Given the description of an element on the screen output the (x, y) to click on. 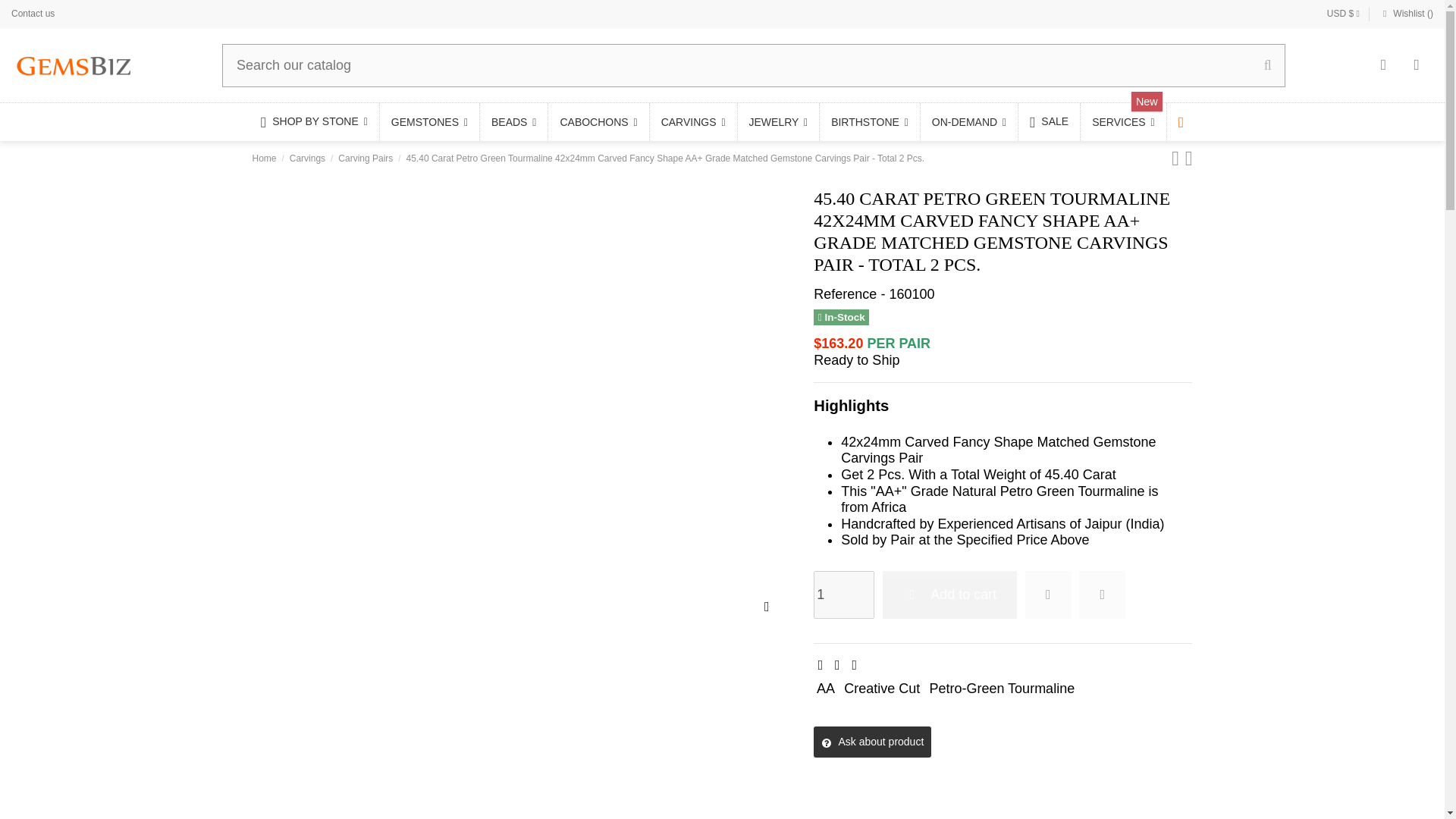
1 (844, 594)
Log in to your customer account (1383, 65)
Add to wishlist (1048, 594)
Add to compare (1101, 594)
SHOP BY STONE (313, 121)
Contact us (33, 13)
